Given the description of an element on the screen output the (x, y) to click on. 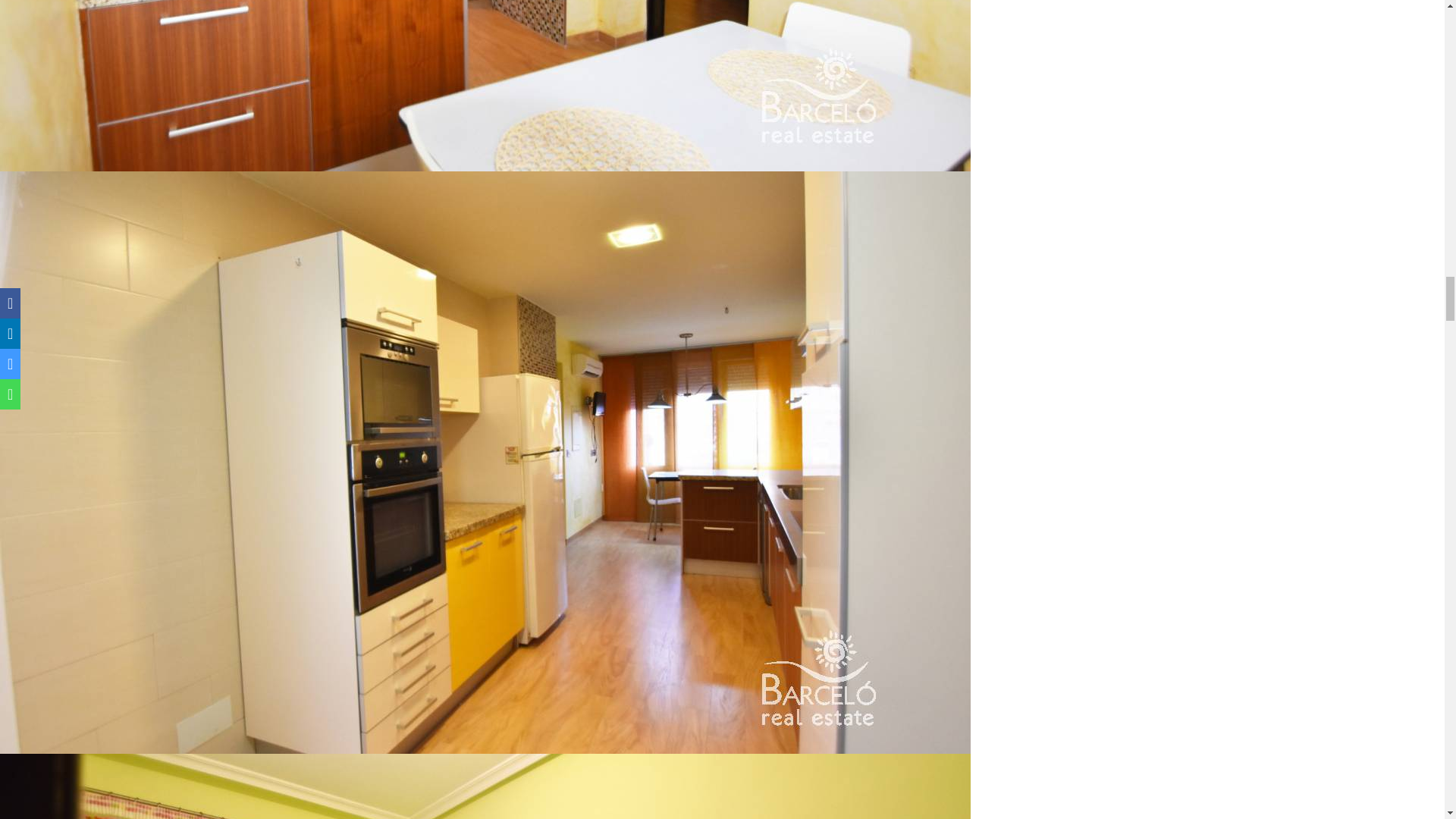
Resale - Attached - Los Montesinos - Center (485, 786)
